Given the description of an element on the screen output the (x, y) to click on. 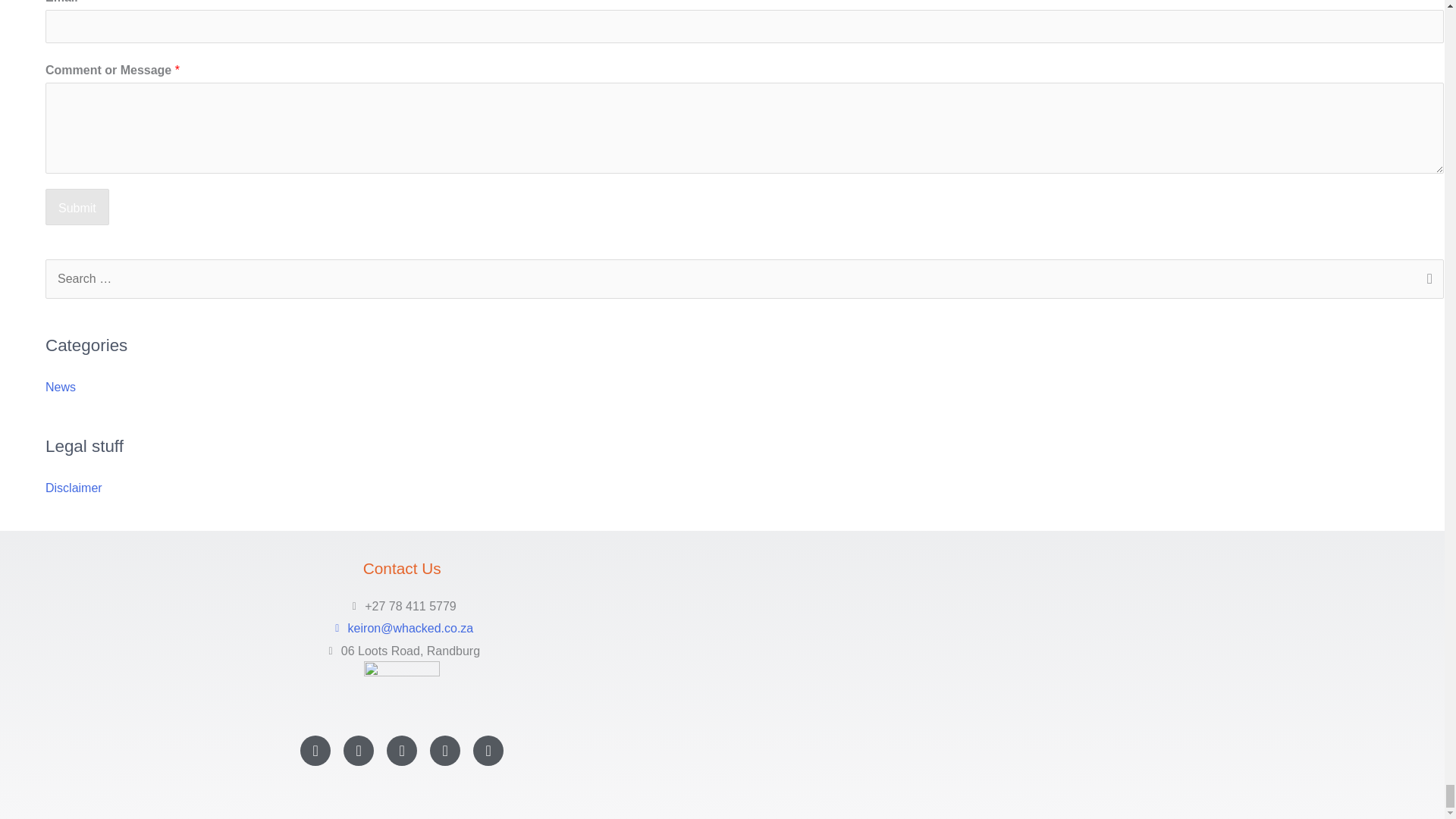
6 Loots road, Randburg (871, 674)
